Given the description of an element on the screen output the (x, y) to click on. 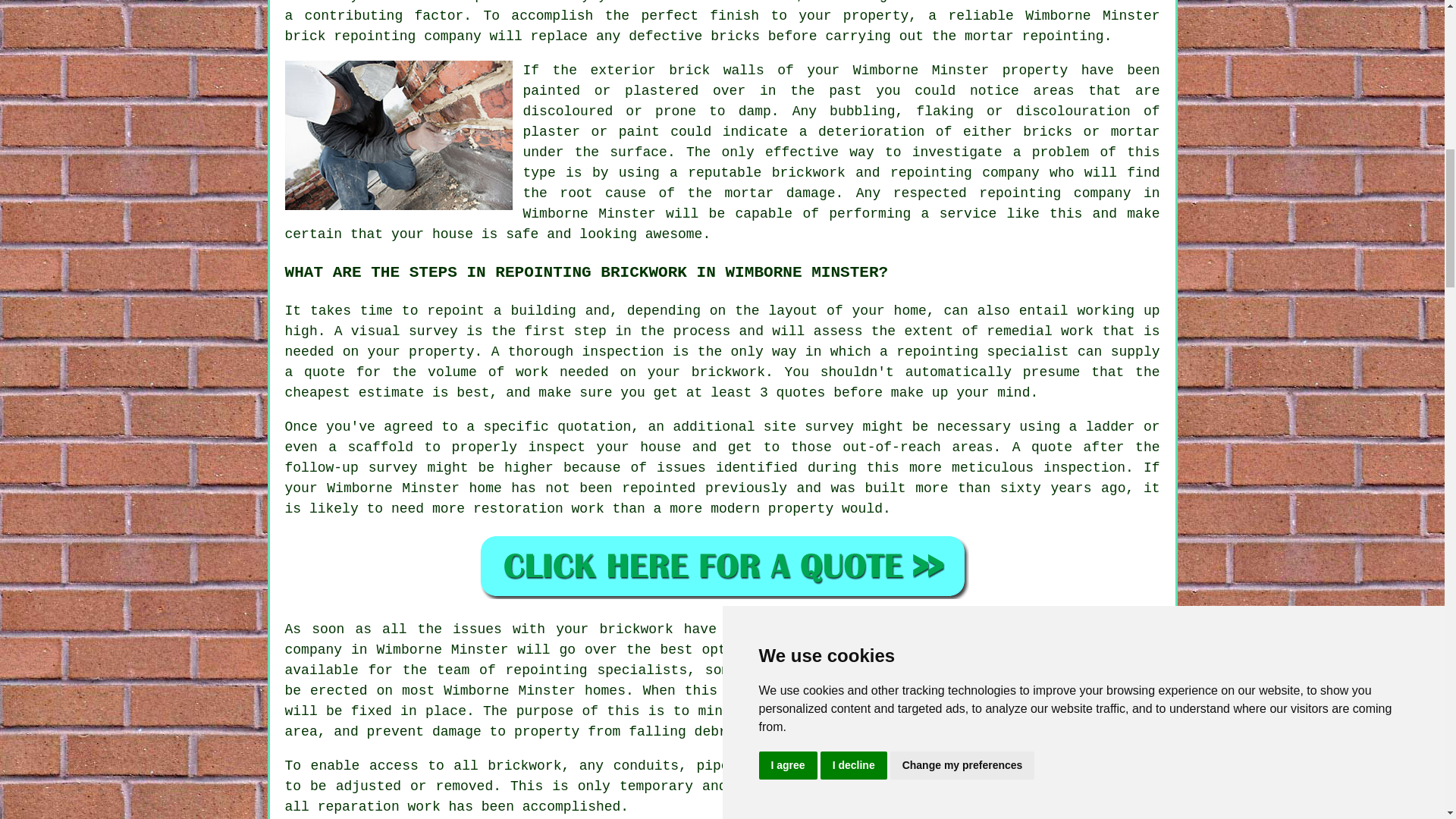
repointed (658, 488)
Repointing Quotes Wimborne Minster (722, 565)
Brickwork Repointing Wimborne Minster (398, 134)
brick repointing (350, 36)
repoint (455, 310)
repointing company (1054, 192)
